Given the description of an element on the screen output the (x, y) to click on. 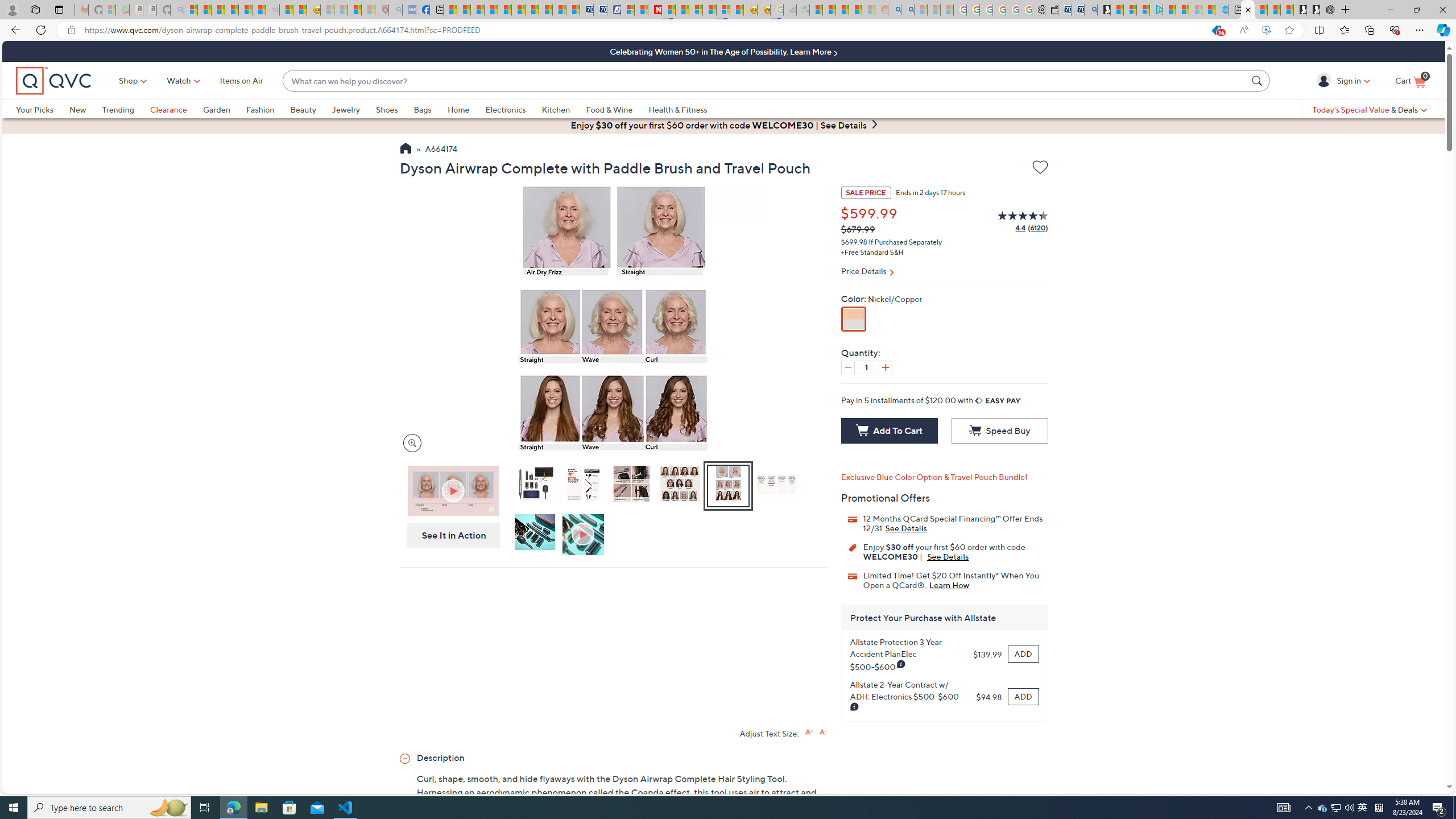
Decrease font size (822, 731)
New (84, 109)
Decrease quantity by 1 (847, 367)
Clearance (175, 109)
